Given the description of an element on the screen output the (x, y) to click on. 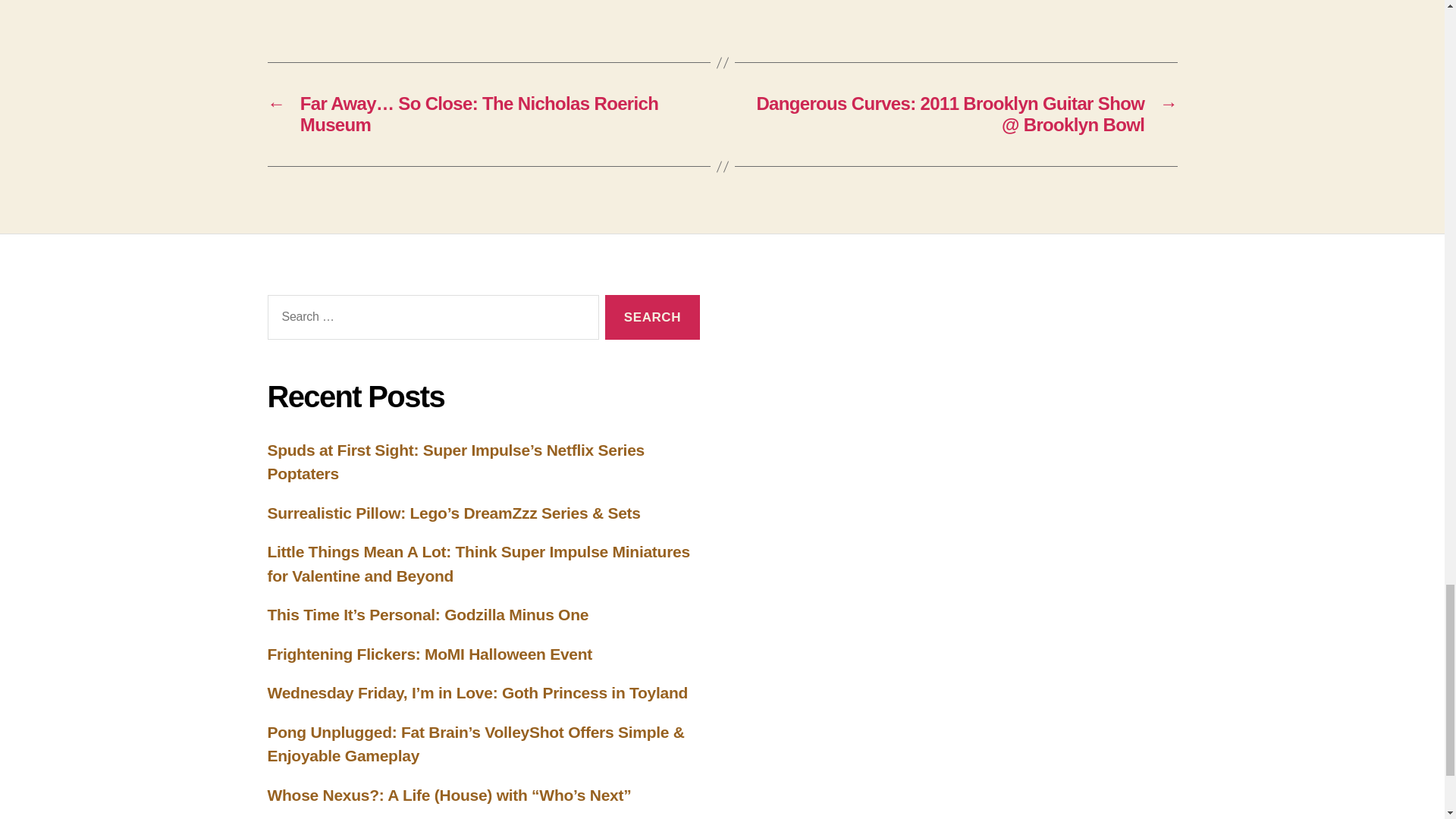
Search (651, 316)
Frightening Flickers: MoMI Halloween Event (429, 653)
Search (651, 316)
Search (651, 316)
